Given the description of an element on the screen output the (x, y) to click on. 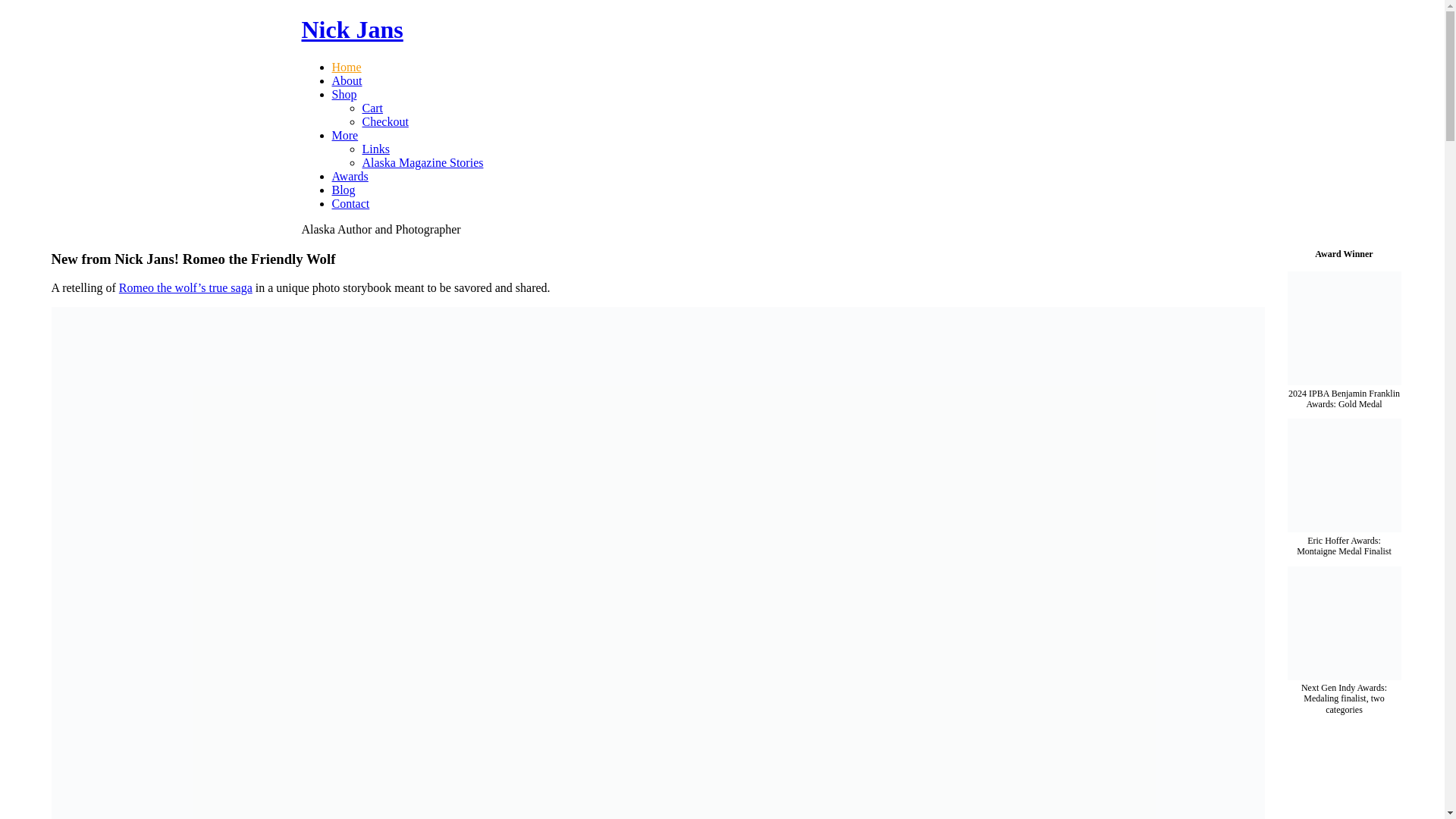
About (346, 80)
Awards (349, 175)
Contact (350, 203)
Shop (343, 93)
Links (376, 148)
More (344, 134)
Checkout (385, 121)
Nick Jans (352, 29)
Cart (373, 107)
Alaska Magazine Stories (422, 162)
Home (346, 66)
Blog (343, 189)
